Given the description of an element on the screen output the (x, y) to click on. 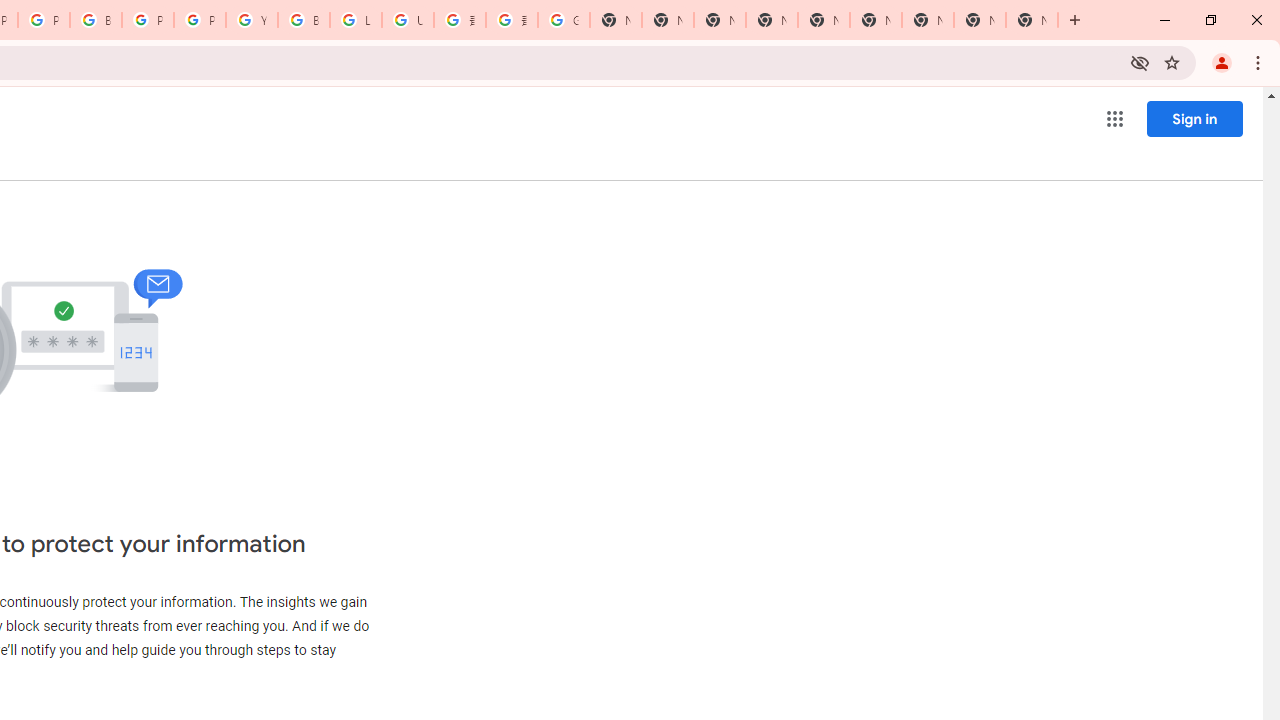
Google Images (563, 20)
